Given the description of an element on the screen output the (x, y) to click on. 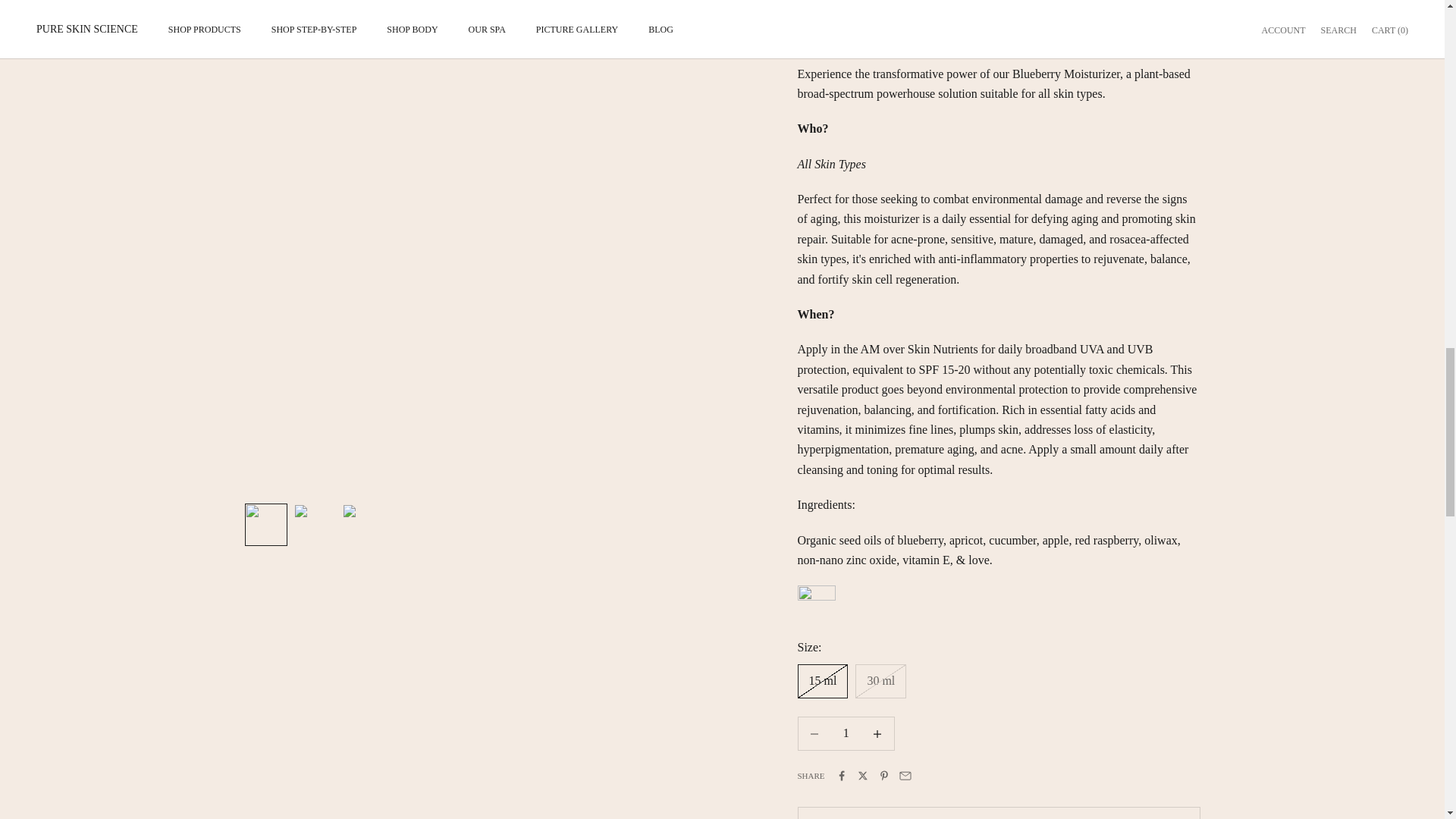
1 (846, 733)
